Given the description of an element on the screen output the (x, y) to click on. 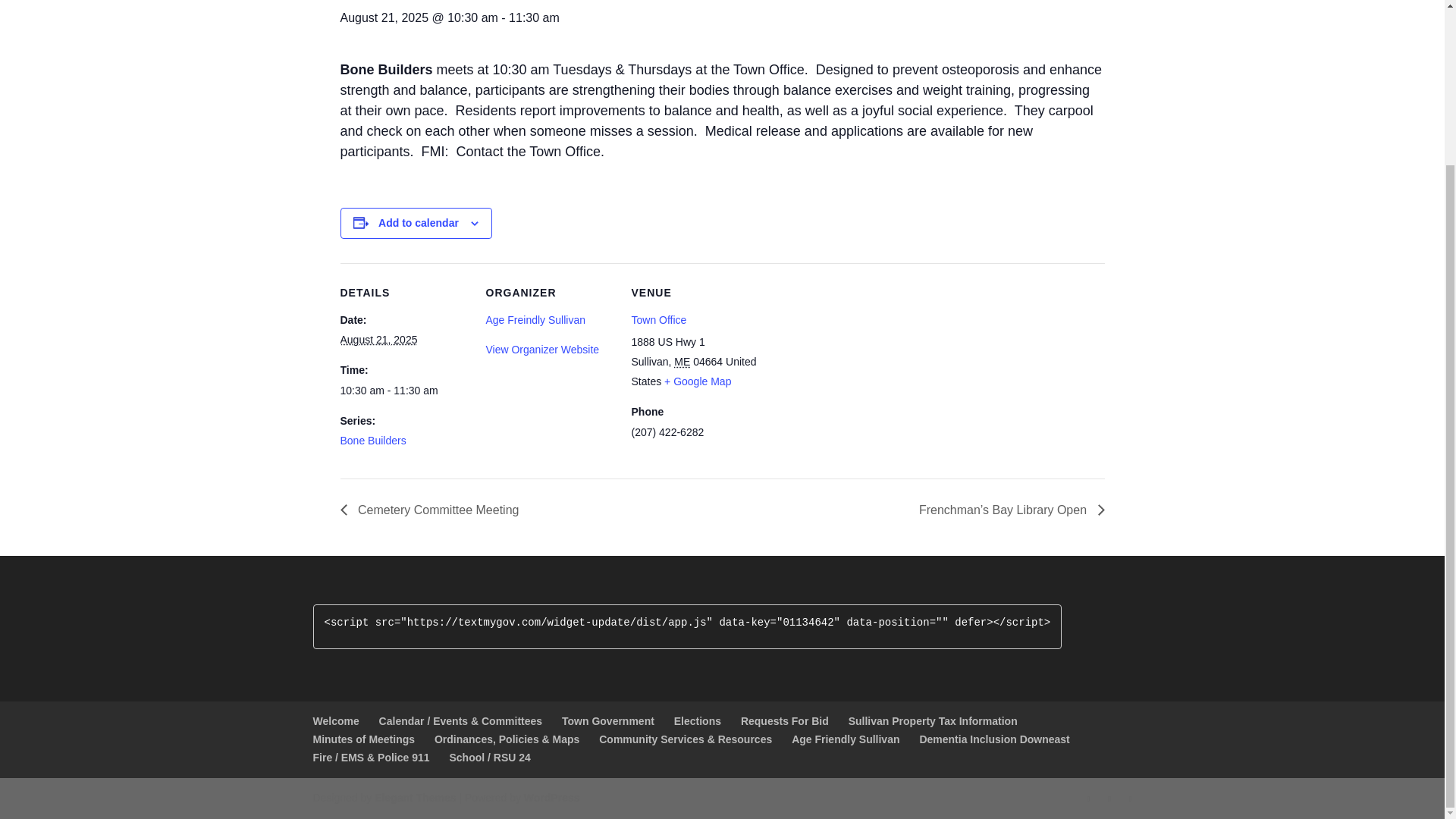
2025-08-21 (377, 339)
2025-08-21 (403, 391)
Elections (697, 720)
Google maps iframe displaying the address to Town Office (856, 367)
Bone Builders (372, 440)
Click to view a Google Map (696, 381)
View Organizer Website (541, 349)
Add to calendar (418, 223)
Town Office (657, 319)
Town Government (607, 720)
Cemetery Committee Meeting (433, 509)
Bone Builders (372, 440)
Maine (682, 361)
Welcome (335, 720)
Age Freindly Sullivan (534, 319)
